Given the description of an element on the screen output the (x, y) to click on. 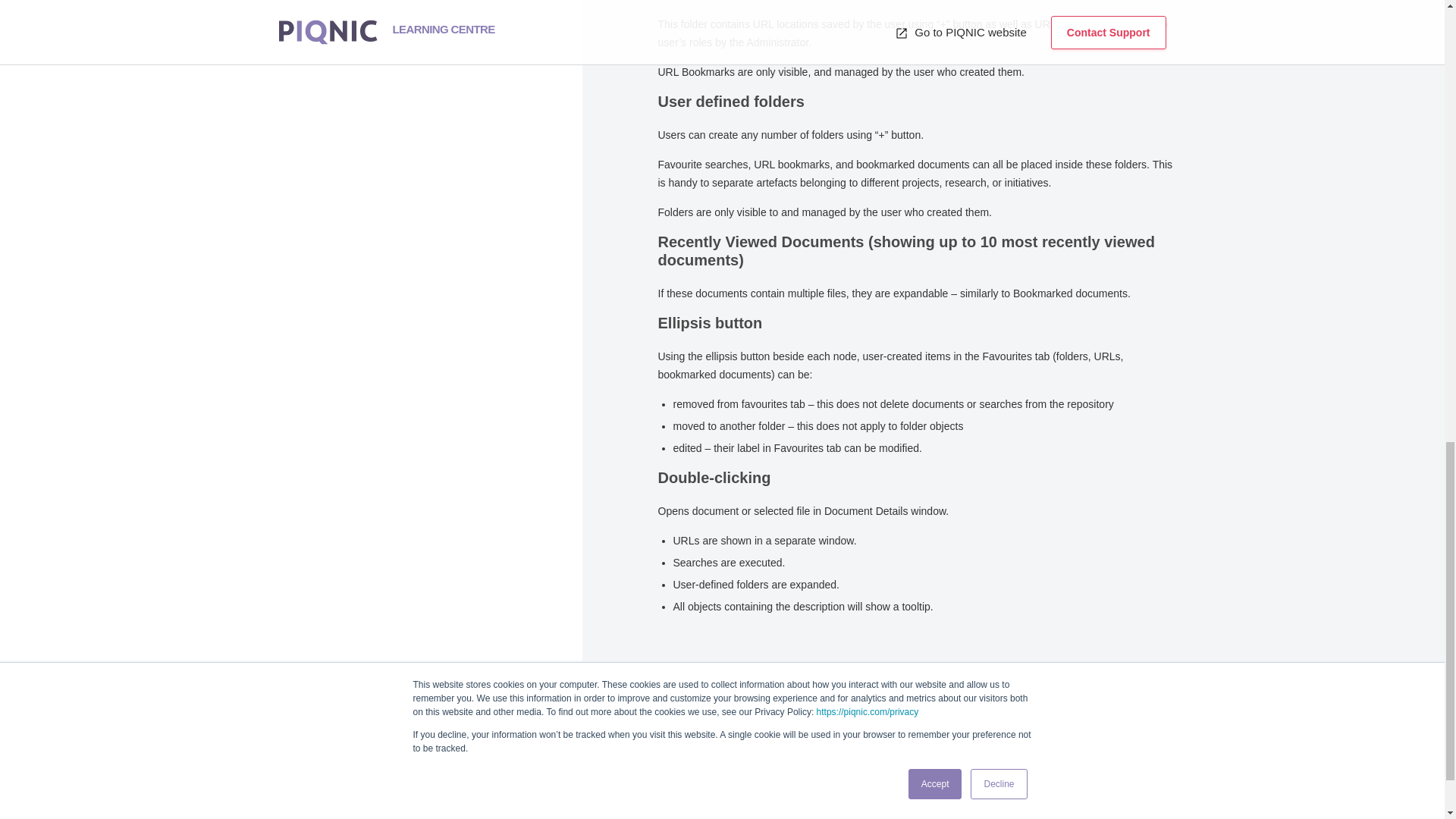
Document management (336, 786)
Team collaboration (336, 802)
User settings (336, 769)
